Given the description of an element on the screen output the (x, y) to click on. 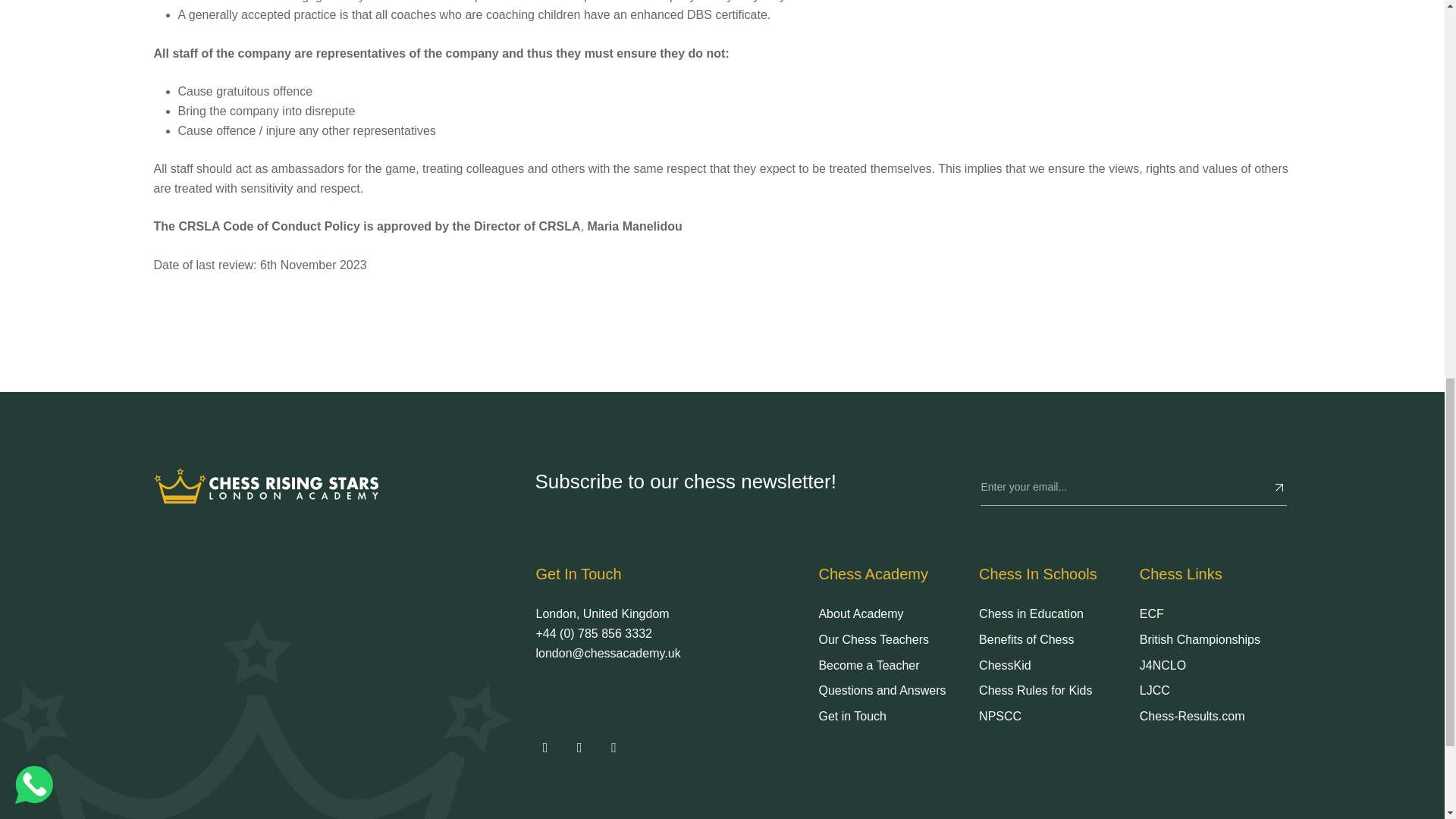
Twitter (544, 748)
LinkedIn (613, 748)
Instagram (579, 748)
Chess Rising Stars (265, 484)
